Given the description of an element on the screen output the (x, y) to click on. 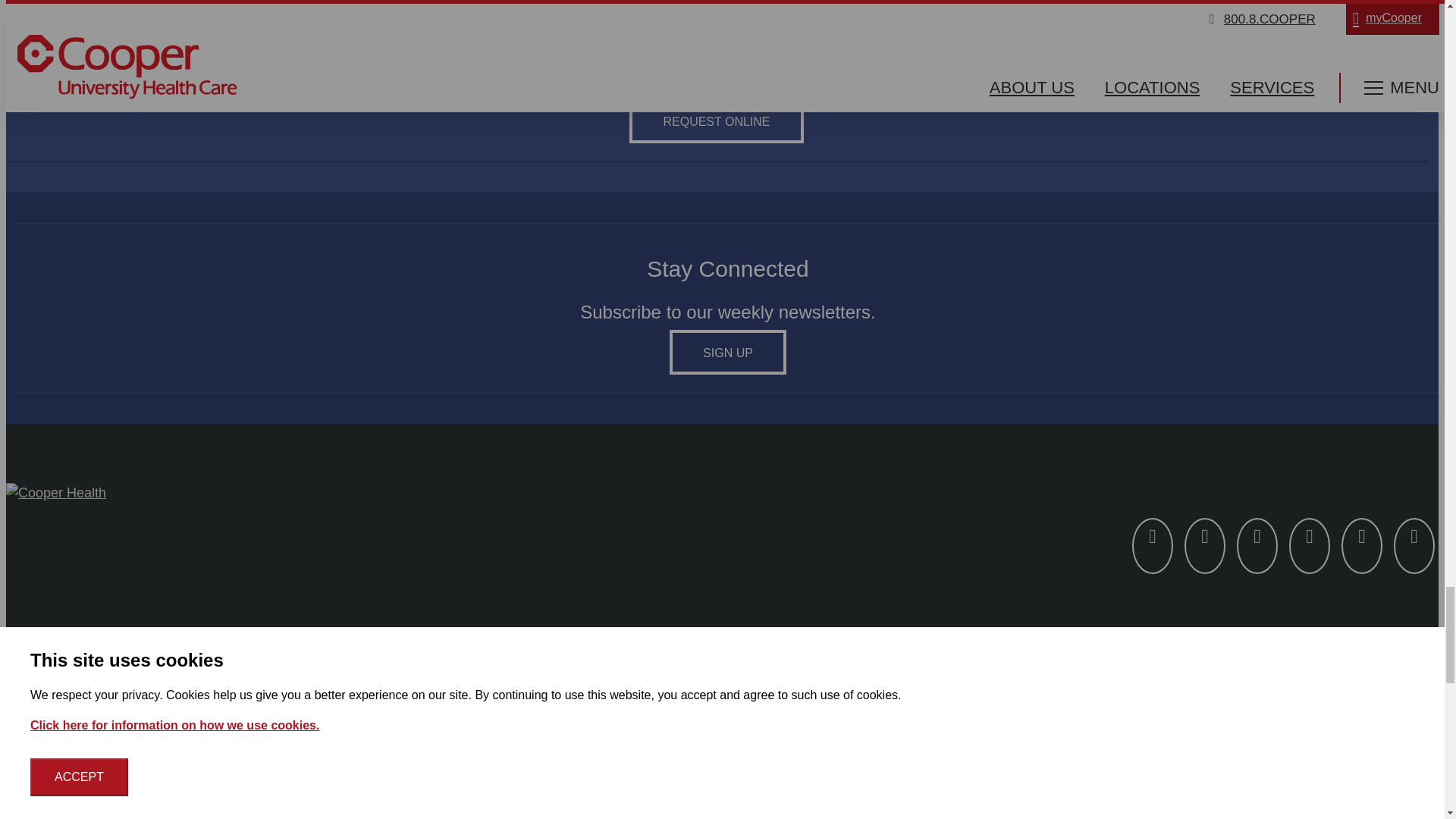
X (1205, 545)
Facebook (1152, 545)
Youtube (1360, 545)
Linkedin (1309, 545)
Instagram (1257, 545)
Subscribe to eHealth (727, 352)
